Given the description of an element on the screen output the (x, y) to click on. 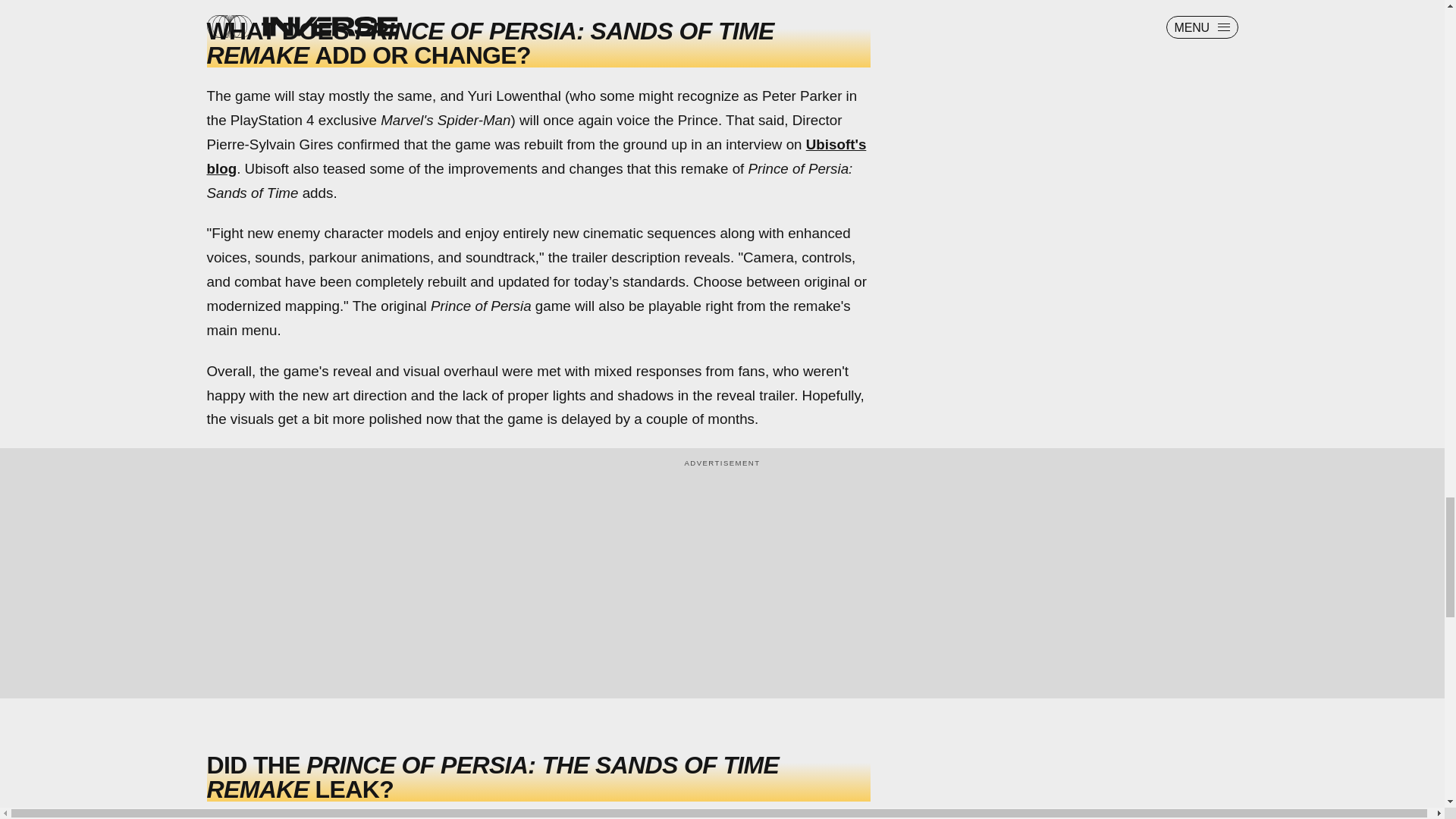
Ubisoft's blog (536, 156)
